Given the description of an element on the screen output the (x, y) to click on. 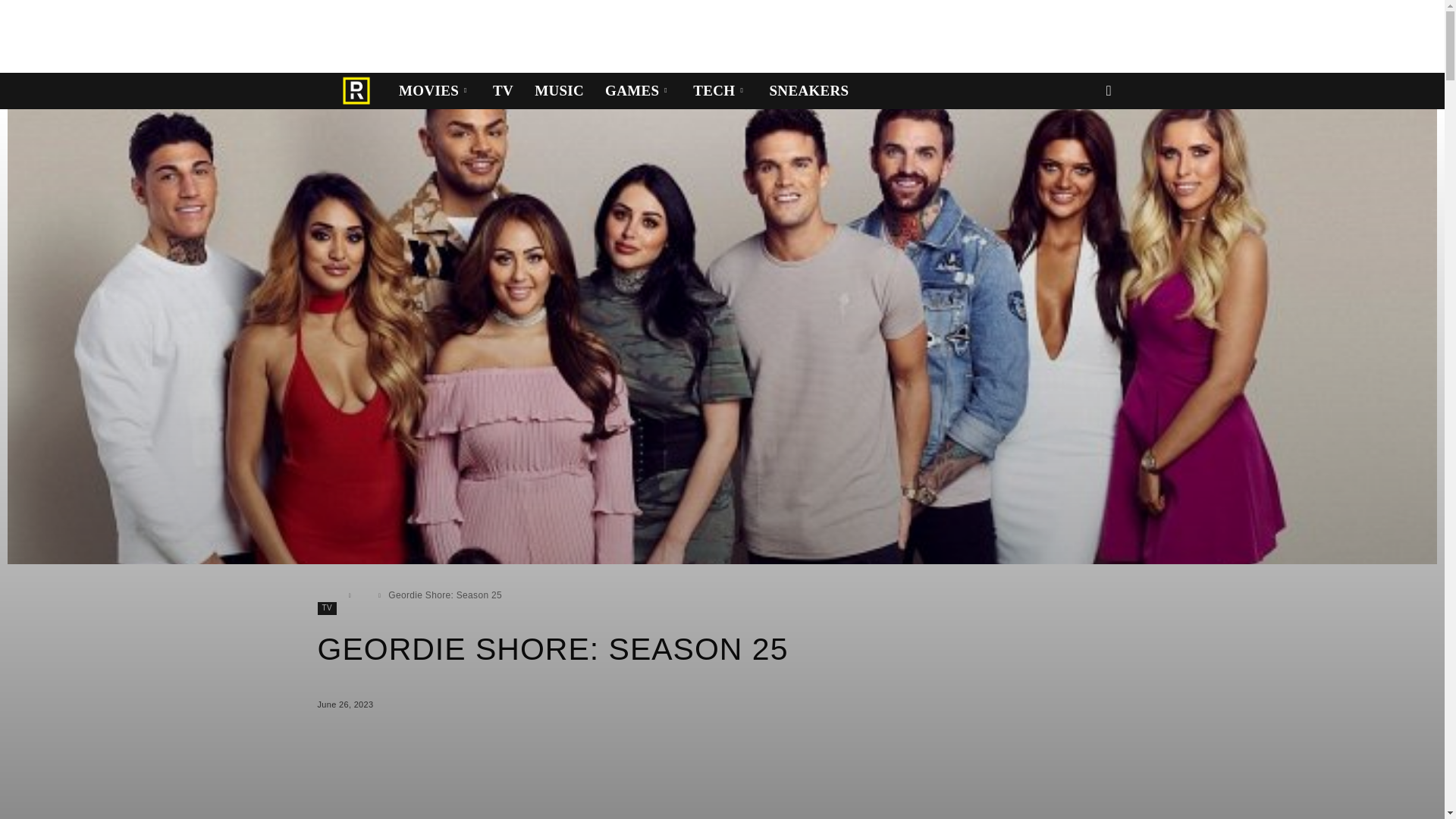
Advertisement (275, 33)
GAMES (638, 90)
Release Details (356, 90)
TECH (720, 90)
New Movie Releases (434, 90)
MOVIES (434, 90)
MUSIC (559, 90)
New TV Show Releases (502, 90)
TV (502, 90)
